Given the description of an element on the screen output the (x, y) to click on. 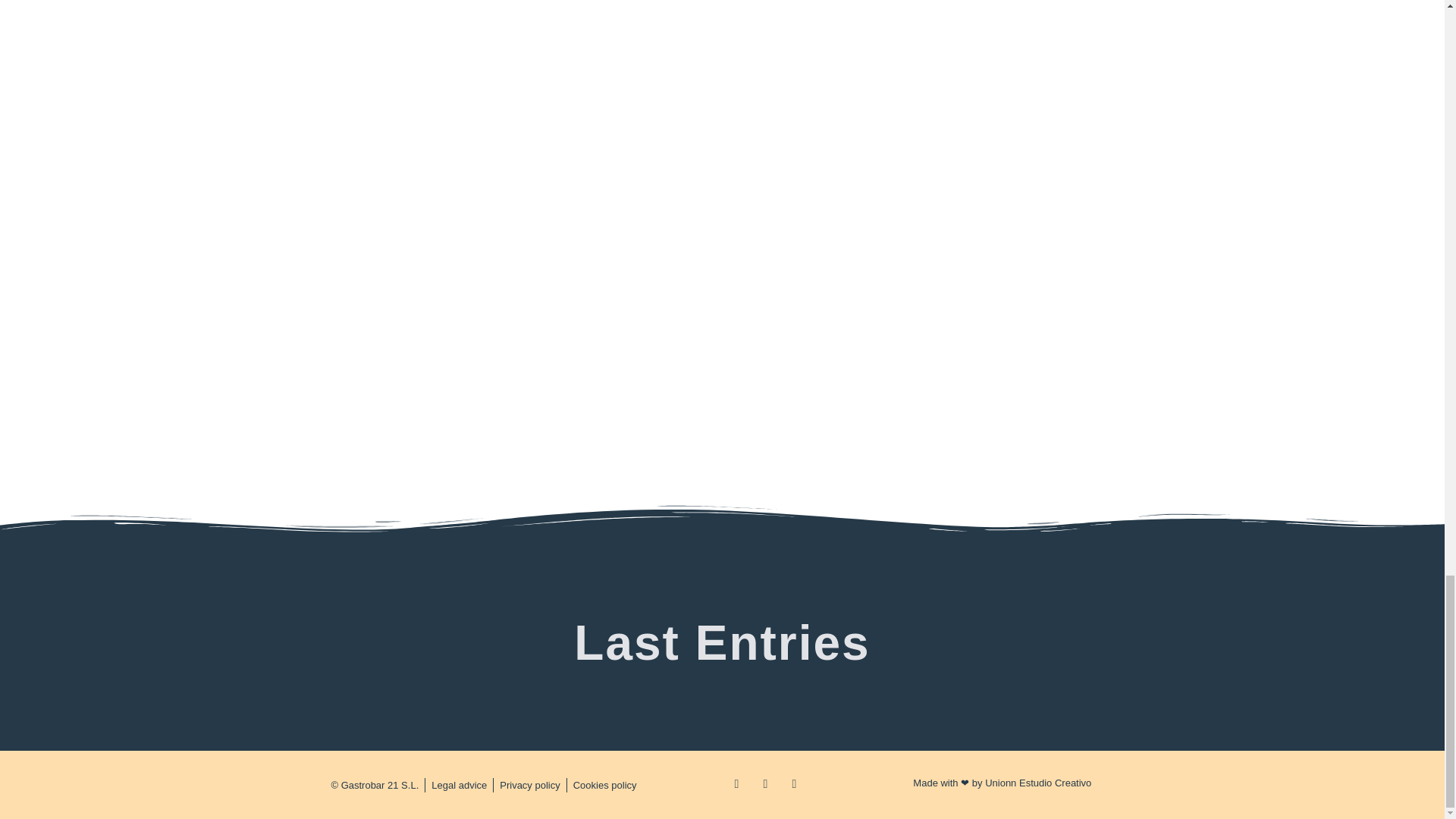
Legal advice (458, 785)
Privacy policy (529, 785)
